Given the description of an element on the screen output the (x, y) to click on. 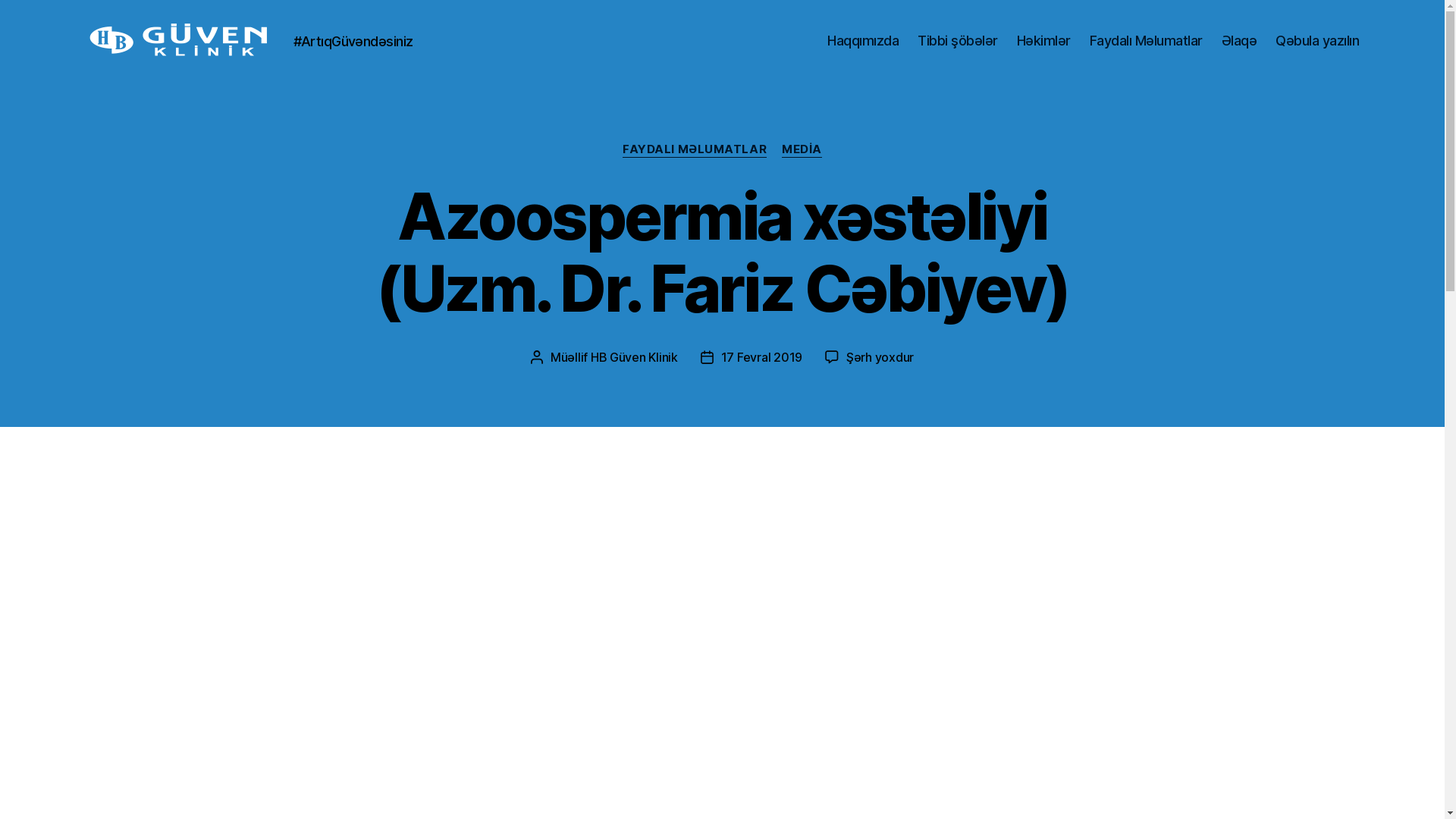
17 Fevral 2019 Element type: text (761, 356)
MEDIA Element type: text (801, 149)
